Given the description of an element on the screen output the (x, y) to click on. 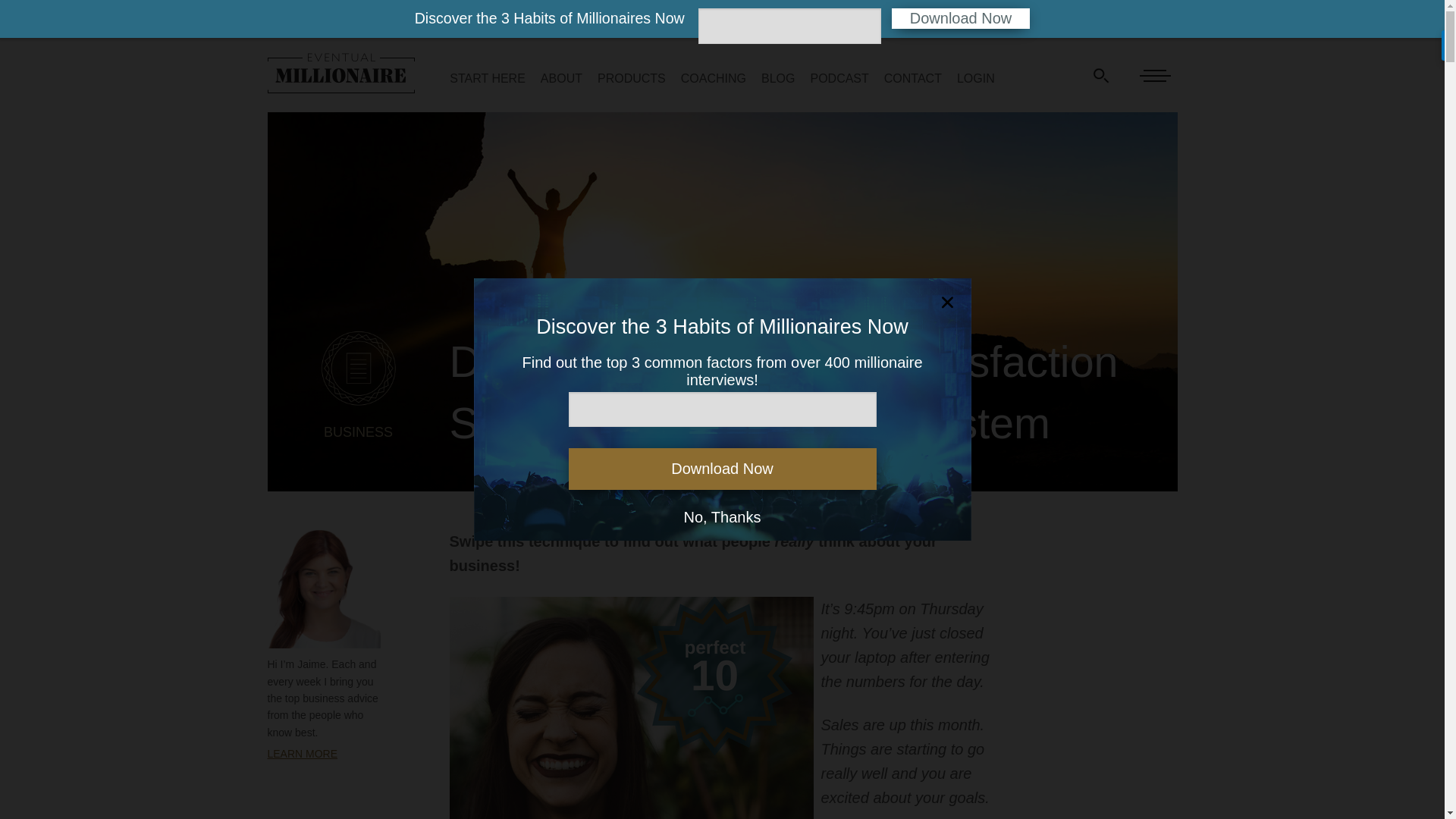
PODCAST (838, 77)
CONTACT (912, 77)
LOGIN (975, 77)
PRODUCTS (630, 77)
BUSINESS (357, 448)
START HERE (487, 77)
ABOUT (561, 77)
BLOG (777, 77)
COACHING (713, 77)
